Given the description of an element on the screen output the (x, y) to click on. 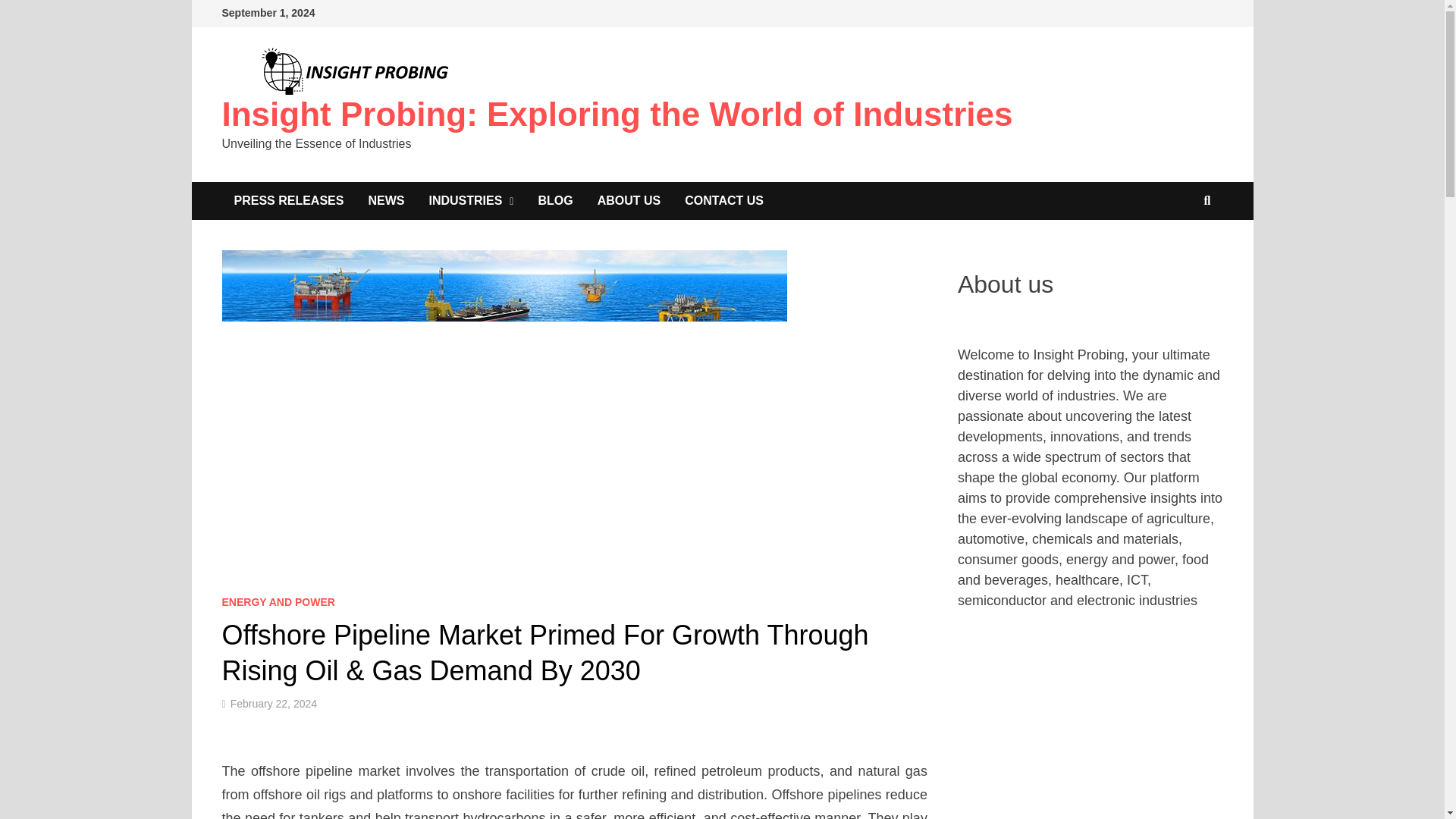
Insight Probing: Exploring the World of Industries (616, 113)
PRESS RELEASES (288, 200)
CONTACT US (724, 200)
INDUSTRIES (470, 200)
BLOG (555, 200)
ABOUT US (628, 200)
NEWS (385, 200)
